Given the description of an element on the screen output the (x, y) to click on. 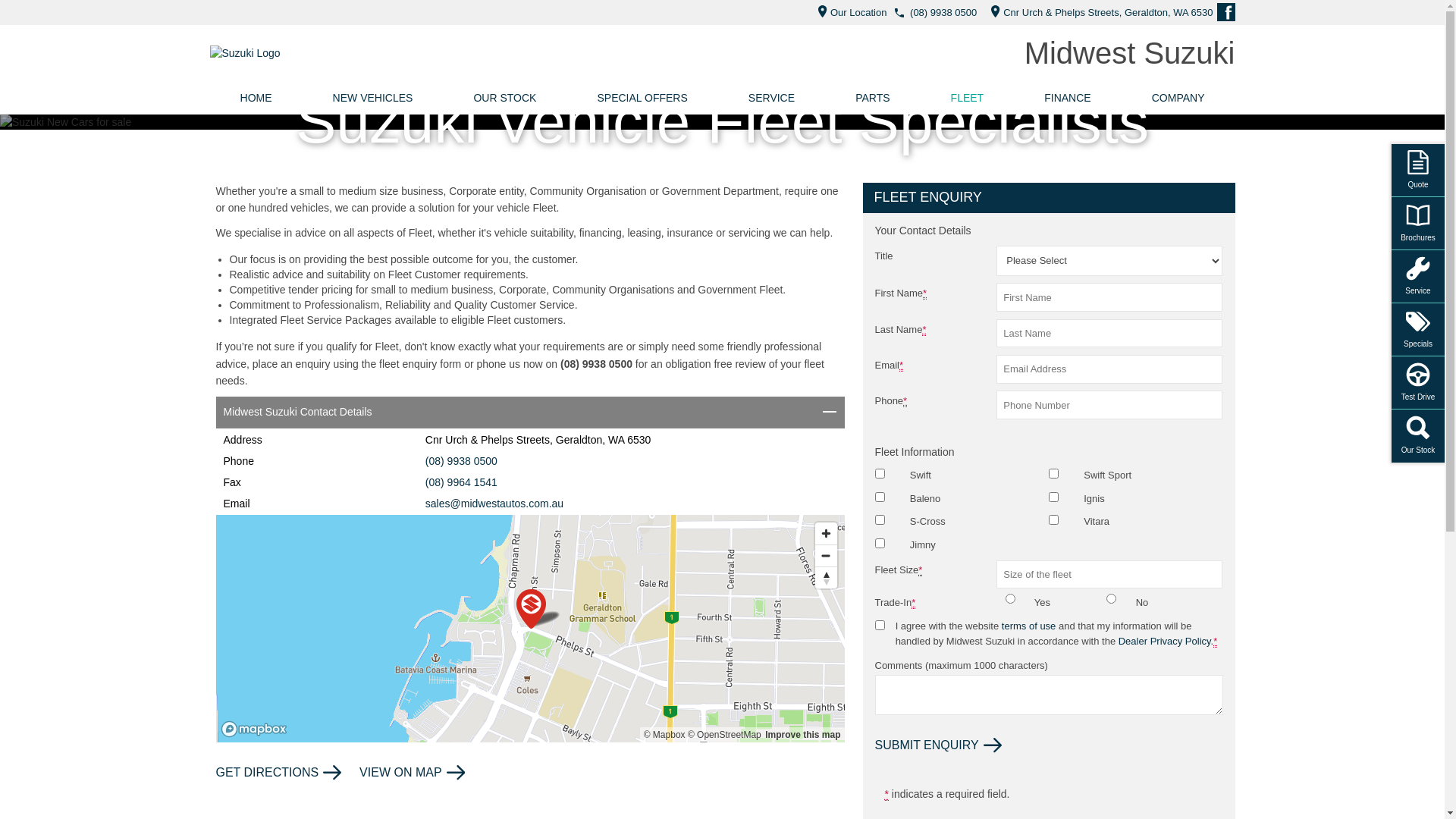
Reset bearing to north Element type: hover (825, 577)
Our Location Element type: text (847, 12)
Dealer Privacy Policy Element type: text (1164, 640)
OUR STOCK Element type: text (504, 97)
SPECIAL OFFERS Element type: text (641, 97)
SERVICE Element type: text (771, 97)
COMPANY Element type: text (1178, 97)
FINANCE Element type: text (1067, 97)
HOME Element type: text (255, 97)
Facebook Element type: text (1225, 12)
PARTS Element type: text (872, 97)
GET DIRECTIONS Element type: text (278, 772)
sales@midwestautos.com.au Element type: text (494, 503)
Submit Enquiry Element type: text (938, 745)
FLEET Element type: text (967, 97)
Zoom in Element type: hover (825, 533)
VIEW ON MAP Element type: text (411, 772)
Zoom out Element type: hover (825, 555)
Improve this map Element type: text (802, 734)
(08) 9938 0500 Element type: text (943, 12)
terms of use Element type: text (1028, 625)
(08) 9938 0500 Element type: text (461, 461)
Midwest Suzuki Contact Details Element type: text (529, 411)
Midwest Suzuki Element type: text (1129, 52)
Cnr Urch & Phelps Streets, Geraldton, WA 6530 Element type: text (1097, 12)
(08) 9964 1541 Element type: text (461, 482)
NEW VEHICLES Element type: text (372, 97)
